Given the description of an element on the screen output the (x, y) to click on. 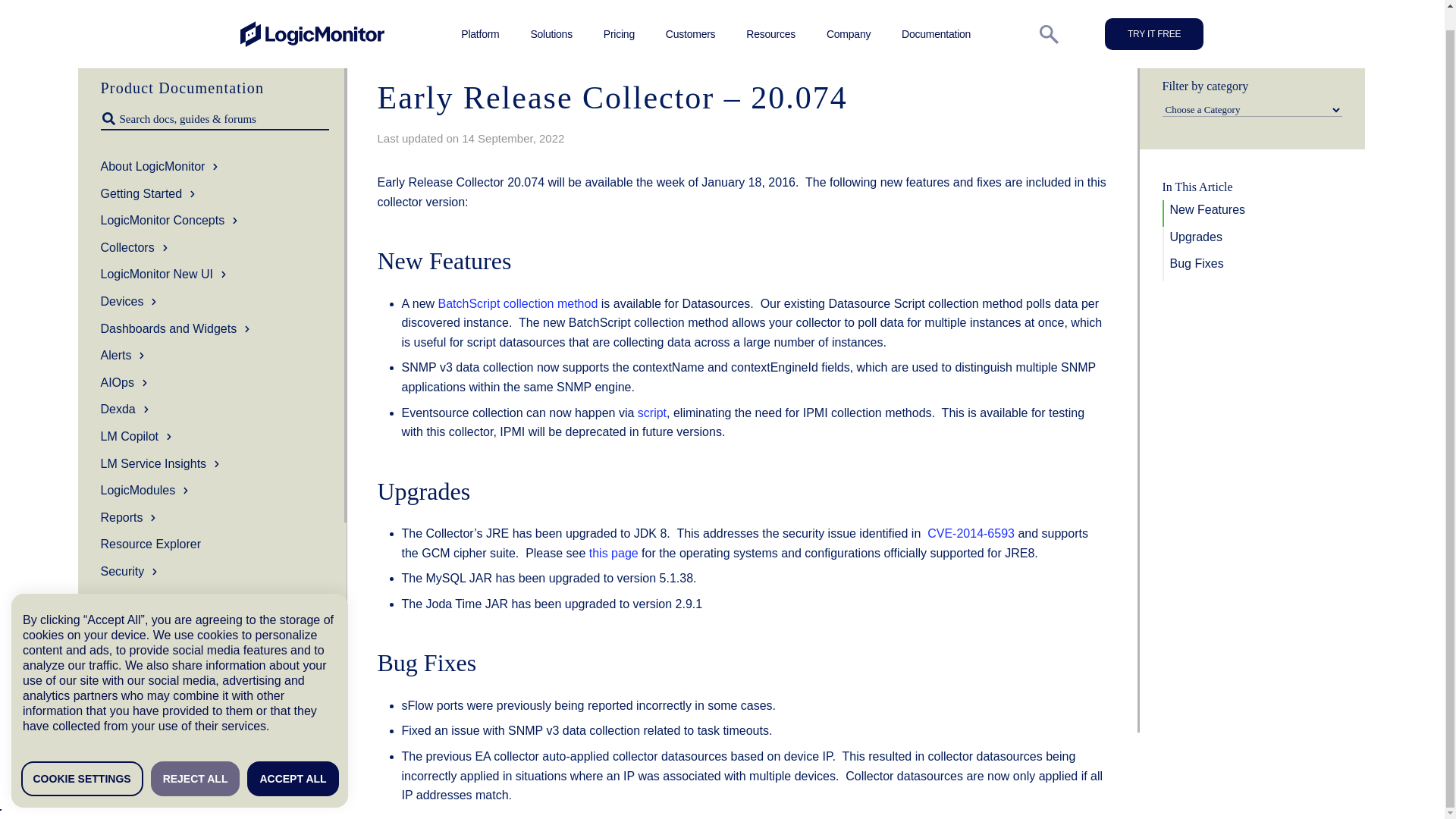
Company (848, 14)
Customers (690, 14)
Platform (480, 14)
Documentation (936, 14)
Solutions (550, 14)
TRY IT FREE (1154, 15)
Pricing (619, 14)
Resources (769, 14)
